Given the description of an element on the screen output the (x, y) to click on. 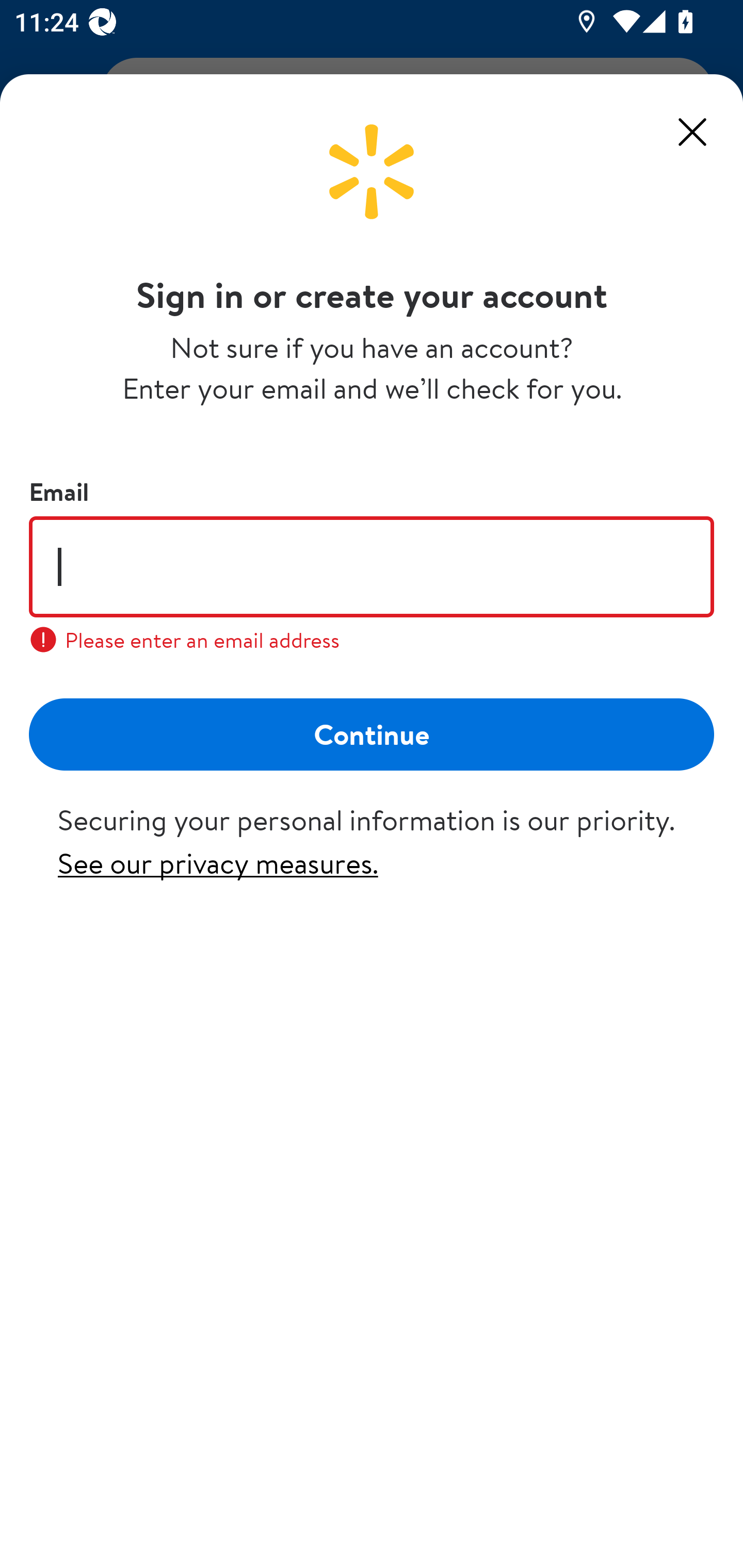
Close (692, 131)
Email (371, 566)
Continue (371, 733)
